Given the description of an element on the screen output the (x, y) to click on. 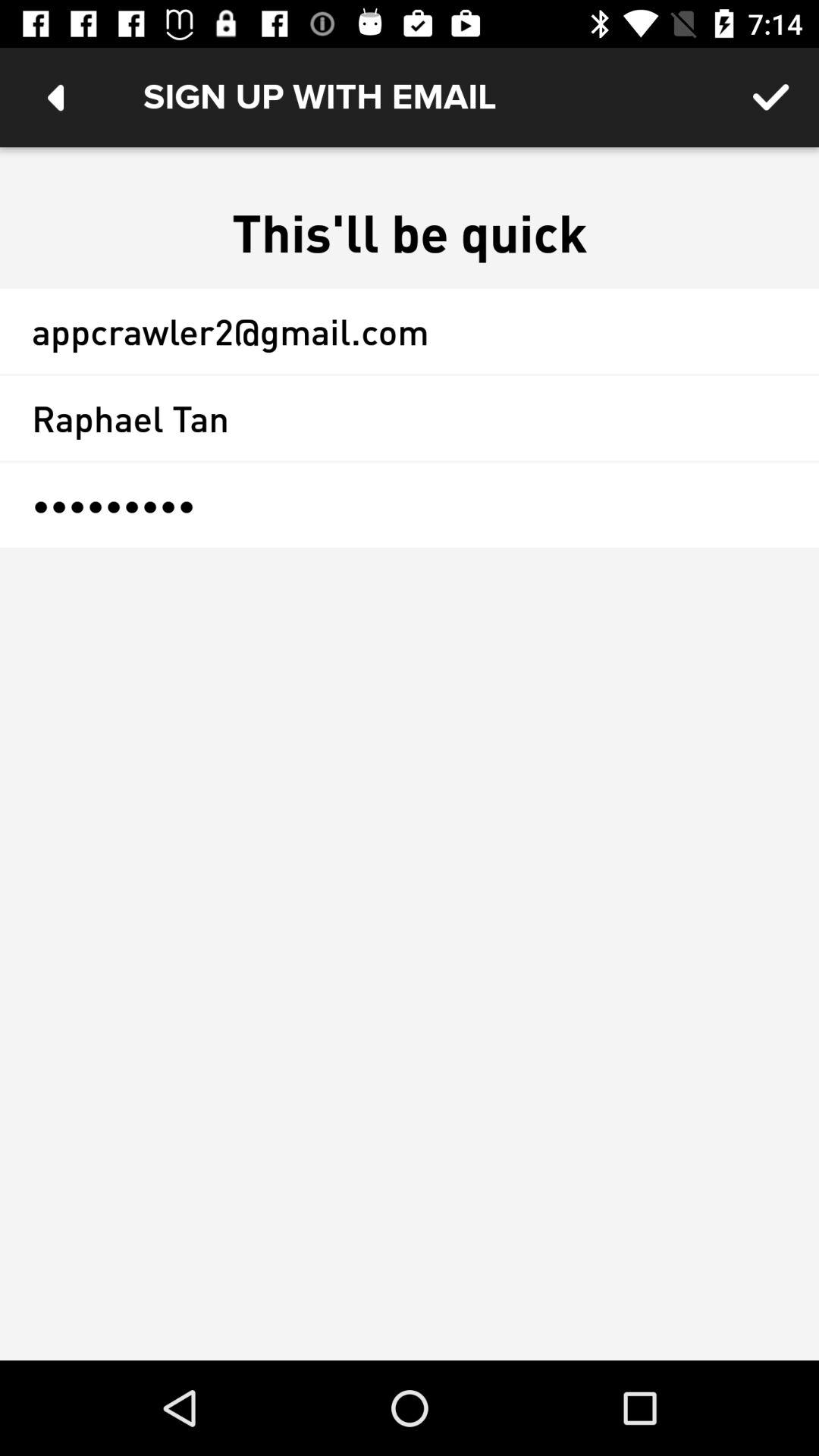
choose item above the crowd3116 icon (409, 417)
